Given the description of an element on the screen output the (x, y) to click on. 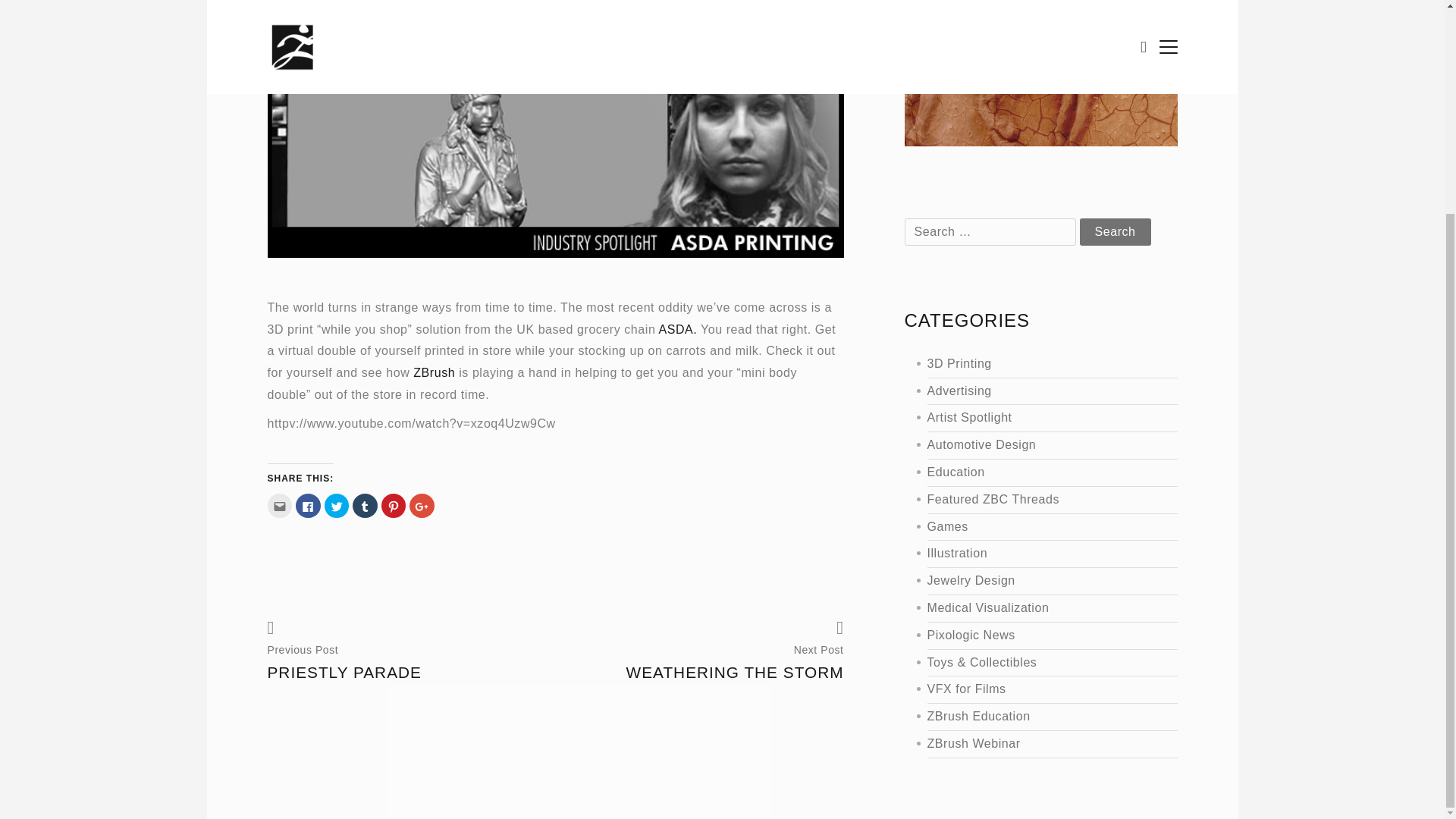
Education (1034, 472)
3D Printing (1034, 363)
Search (1115, 231)
ZBrush (433, 372)
Search (1115, 231)
ZBrush in the Education Field (1034, 472)
Yahoo News  (554, 278)
Click to email this to a friend (279, 505)
Pixologic Homepage (433, 372)
Illustration (1034, 553)
Click to share on Tumblr (364, 505)
Click to share on Twitter (336, 505)
ASDA. (677, 328)
ZBrush in Advertising (1034, 391)
Click to share on Pinterest (393, 505)
